Given the description of an element on the screen output the (x, y) to click on. 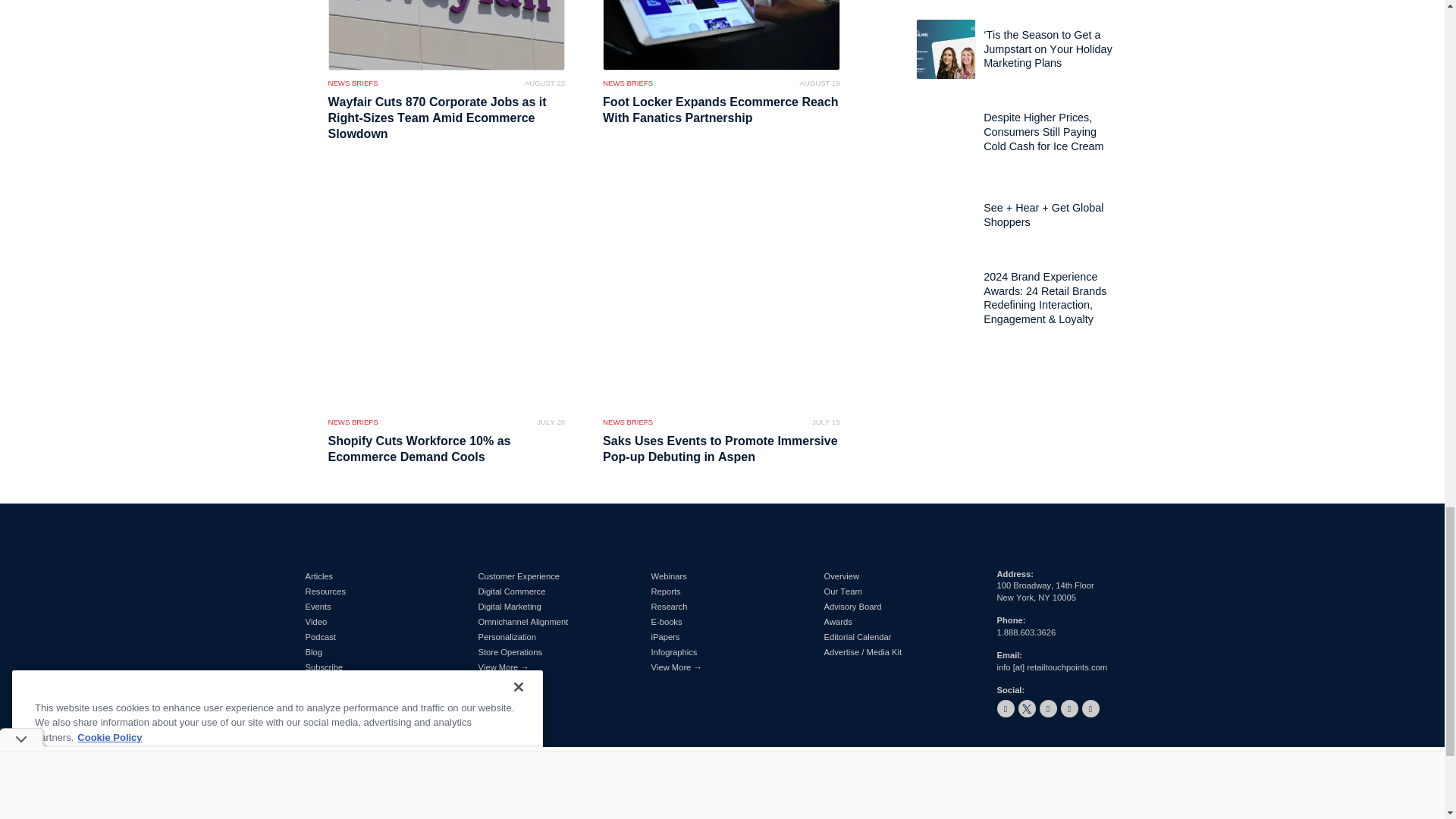
your-privacy-choices (951, 809)
about (709, 809)
terms-of-use (1047, 809)
careers (746, 809)
privacy-policy (1112, 809)
authorized-service-providers (835, 809)
